Given the description of an element on the screen output the (x, y) to click on. 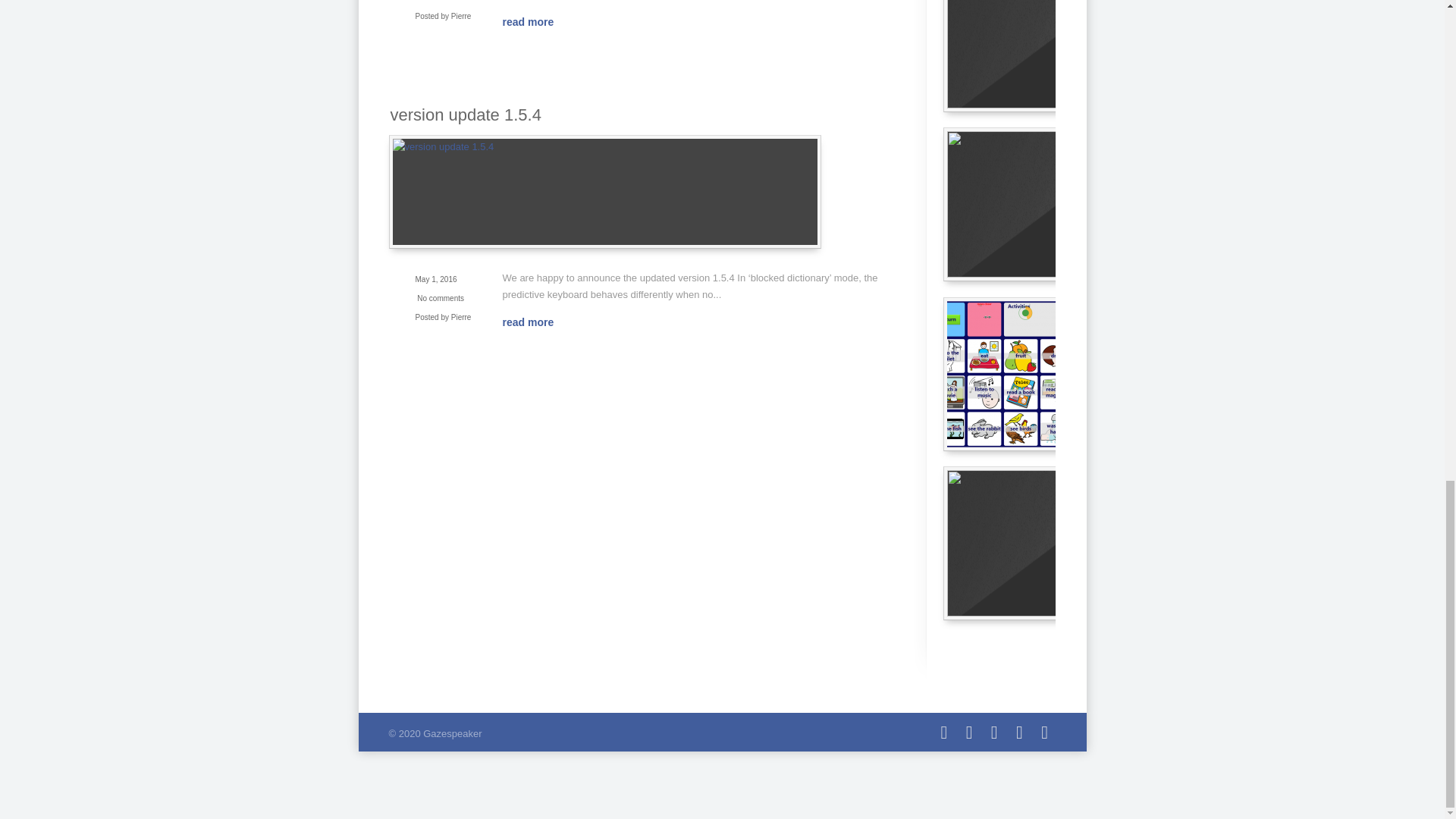
Facebook (944, 732)
Posted by Pierre (442, 314)
version update 1.5.4 (465, 114)
read more (535, 322)
No comments (440, 298)
Posted by Pierre (442, 14)
No comments (440, 0)
1.4 Eye Tracking (1056, 56)
Permalink to version update 1.5.4 (604, 191)
2.1 Free AAC grids (1056, 374)
read more (535, 21)
4.3 Manage your contacts (1056, 204)
2.3 AAC grids with 6 cells (1056, 542)
